Given the description of an element on the screen output the (x, y) to click on. 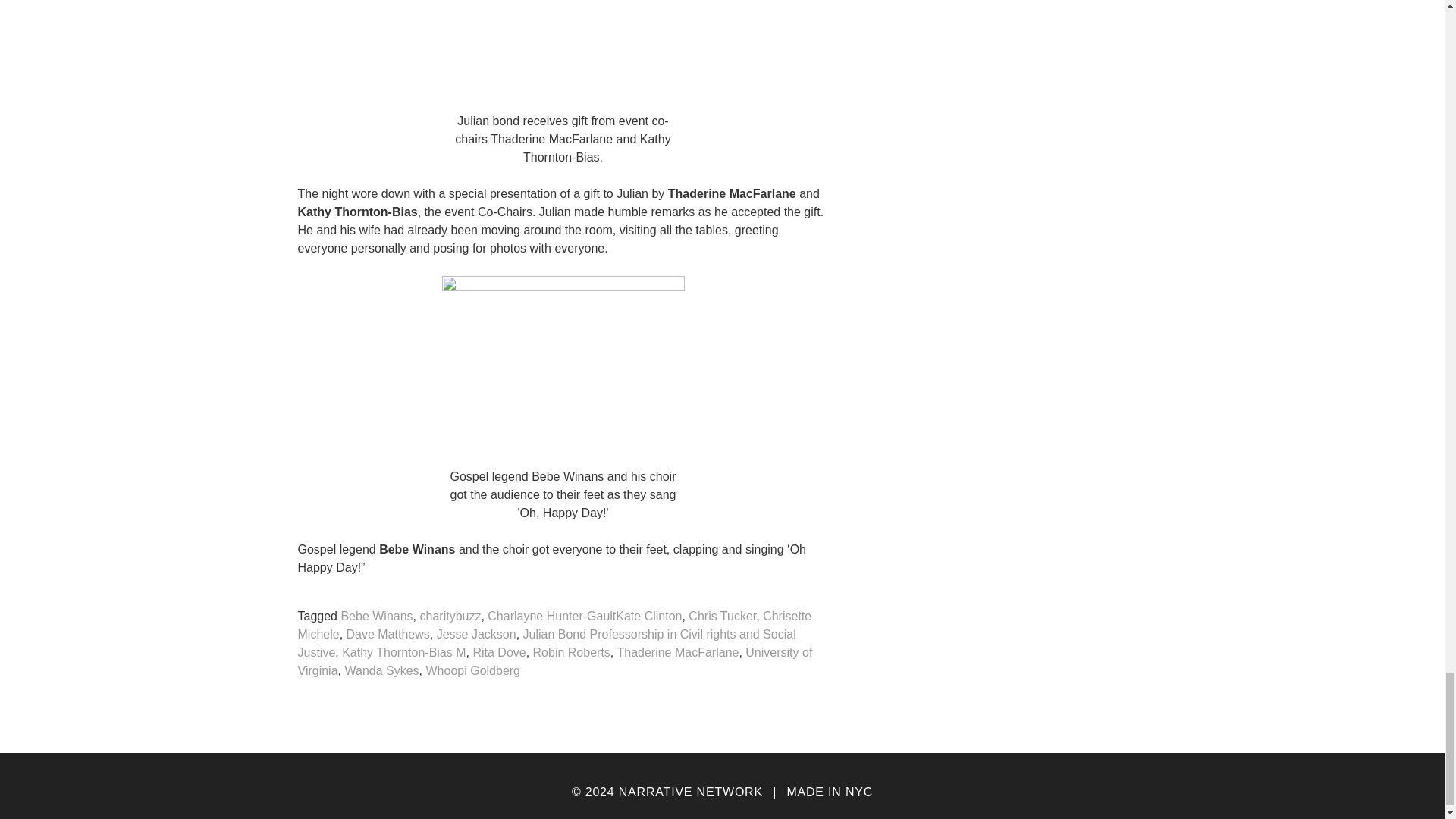
Rita Dove (498, 653)
Julian Bond Professorship in Civil rights and Social Justive (545, 644)
Jesse Jackson (476, 635)
Charlayne Hunter-GaultKate Clinton (584, 616)
Chris Tucker (721, 616)
Dave Matthews (387, 635)
Robin Roberts (571, 653)
Julian Bond event (562, 366)
Julian Bond event (562, 51)
University of Virginia (554, 662)
